Given the description of an element on the screen output the (x, y) to click on. 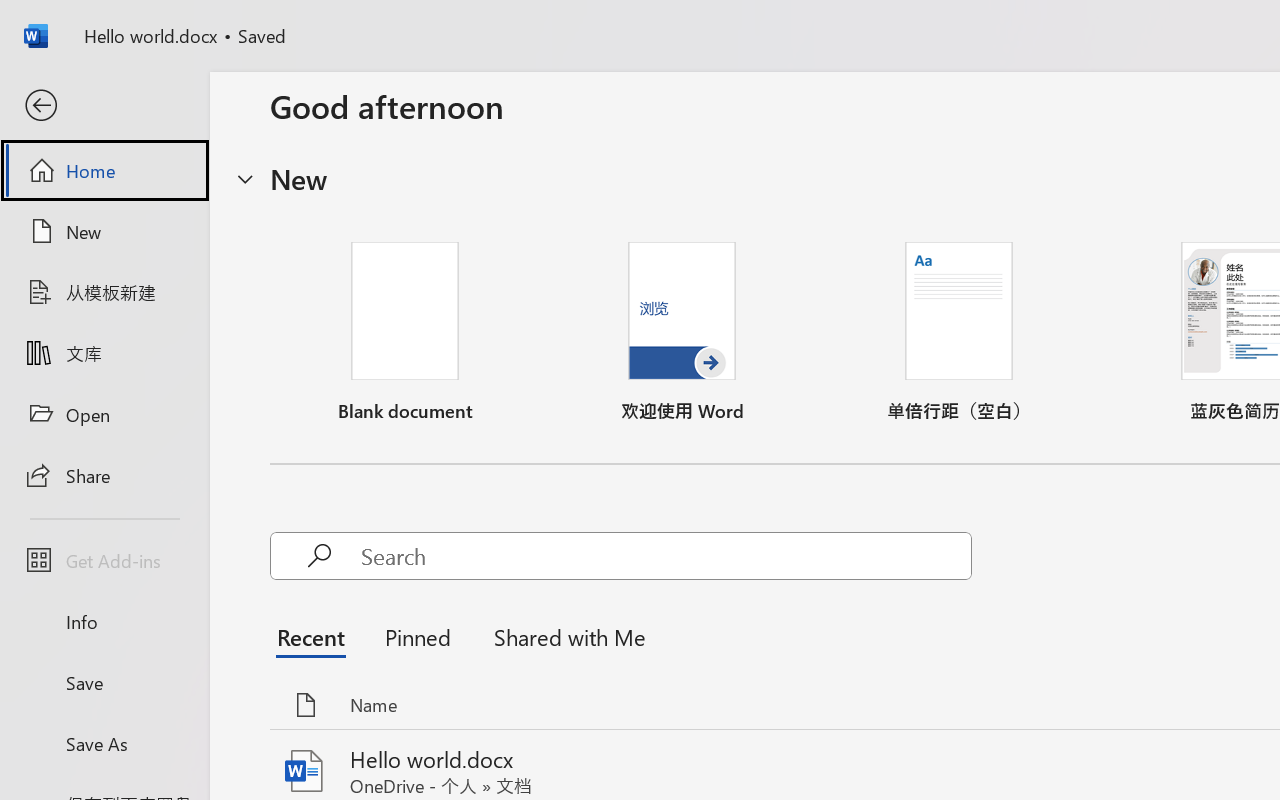
Save As (104, 743)
Back (104, 106)
Recent (316, 636)
Hide or show region (245, 178)
Search (665, 555)
Open (104, 414)
Save (104, 682)
Share (104, 474)
New (104, 231)
Info (104, 621)
Shared with Me (563, 636)
